Given the description of an element on the screen output the (x, y) to click on. 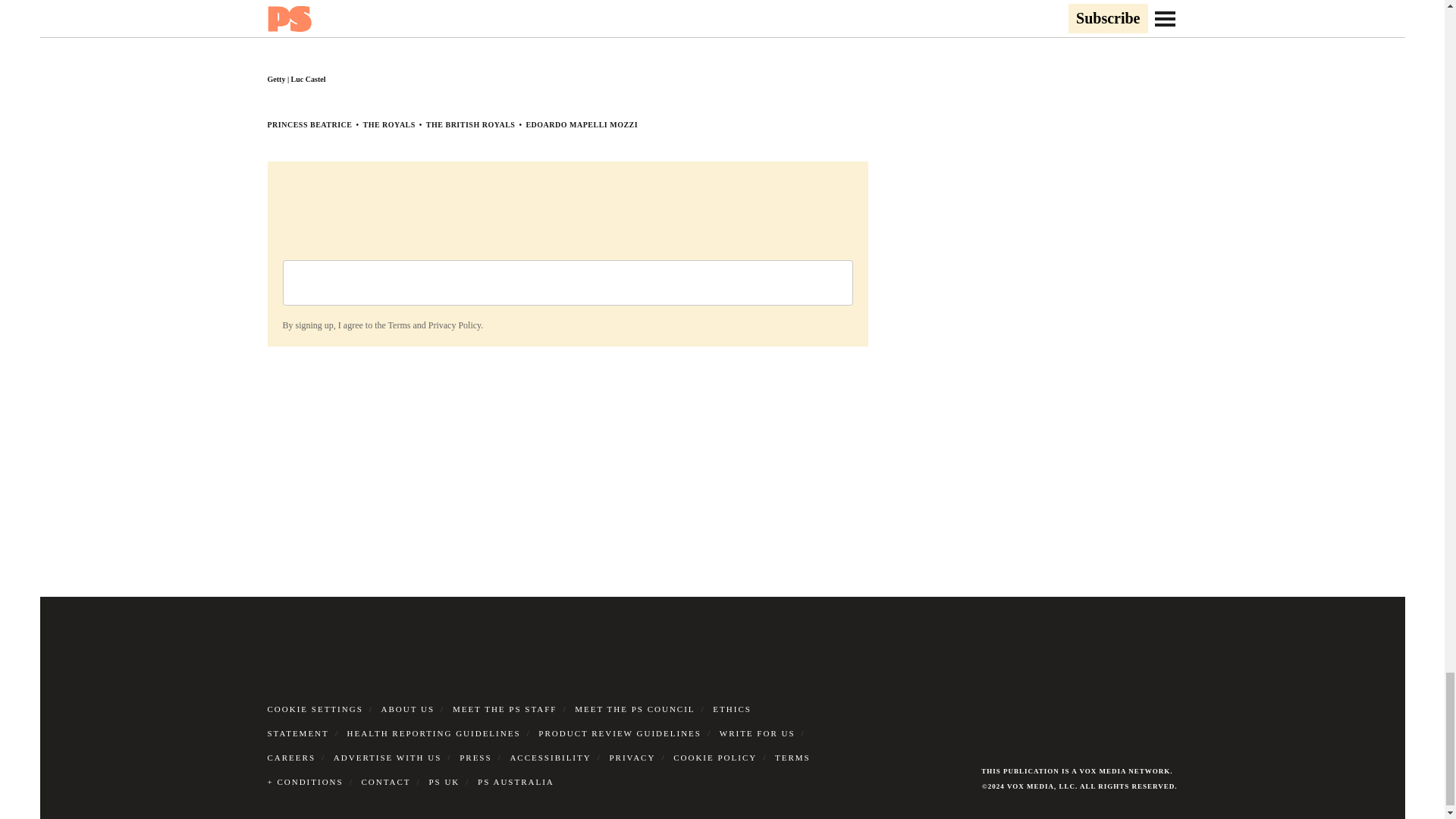
PRODUCT REVIEW GUIDELINES (619, 733)
MEET THE PS COUNCIL (634, 708)
MEET THE PS STAFF (504, 708)
PRIVACY (633, 757)
ADVERTISE WITH US (387, 757)
CAREERS (290, 757)
HEALTH REPORTING GUIDELINES (434, 733)
ABOUT US (408, 708)
PRINCESS BEATRICE (309, 124)
ETHICS STATEMENT (508, 720)
